Given the description of an element on the screen output the (x, y) to click on. 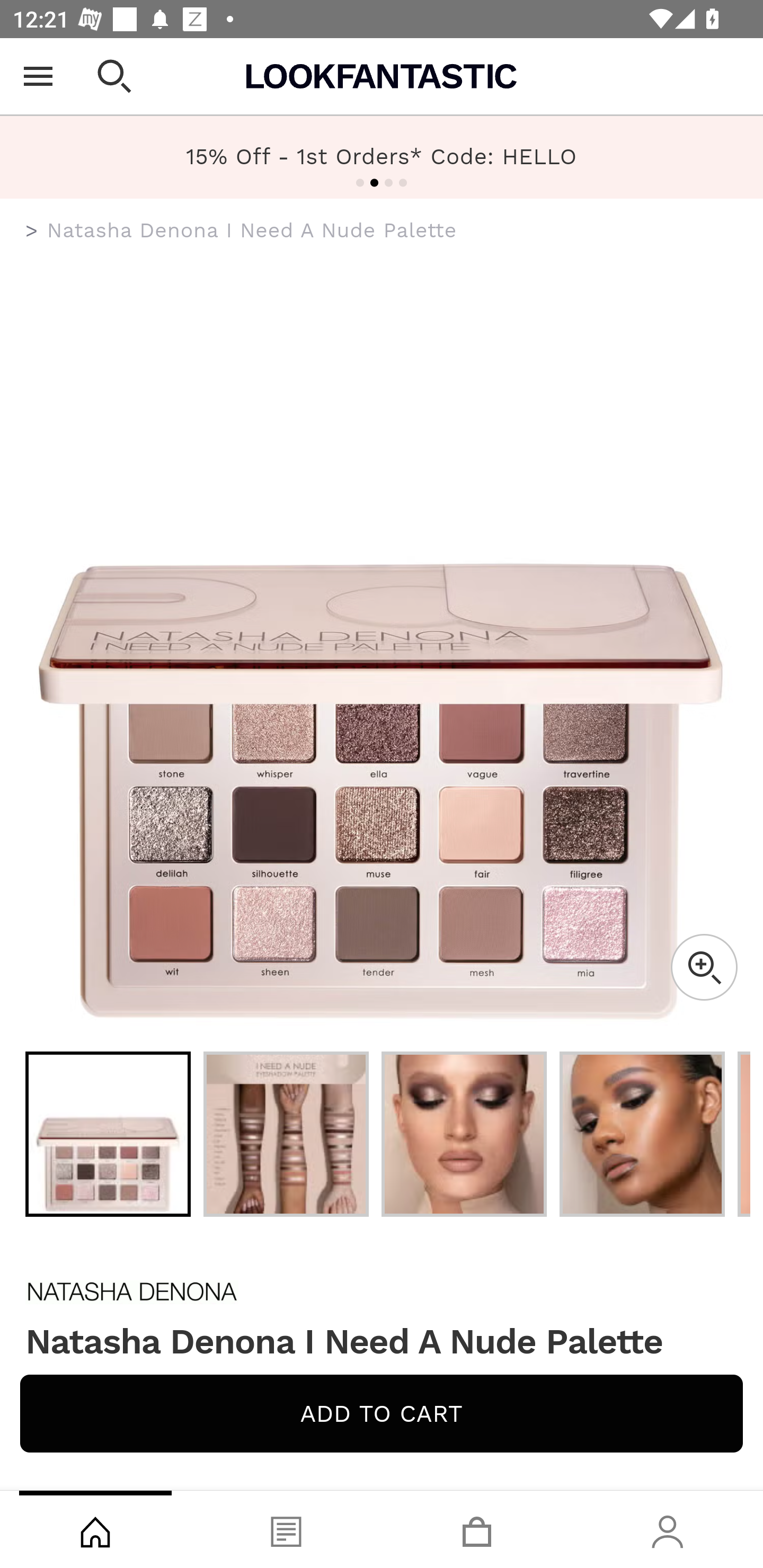
Open Menu (38, 75)
Open search (114, 75)
Lookfantastic USA (381, 75)
us.lookfantastic (32, 230)
Zoom (703, 966)
Natasha Denona (381, 1291)
Add to cart (381, 1413)
Shop, tab, 1 of 4 (95, 1529)
Blog, tab, 2 of 4 (285, 1529)
Basket, tab, 3 of 4 (476, 1529)
Account, tab, 4 of 4 (667, 1529)
